Given the description of an element on the screen output the (x, y) to click on. 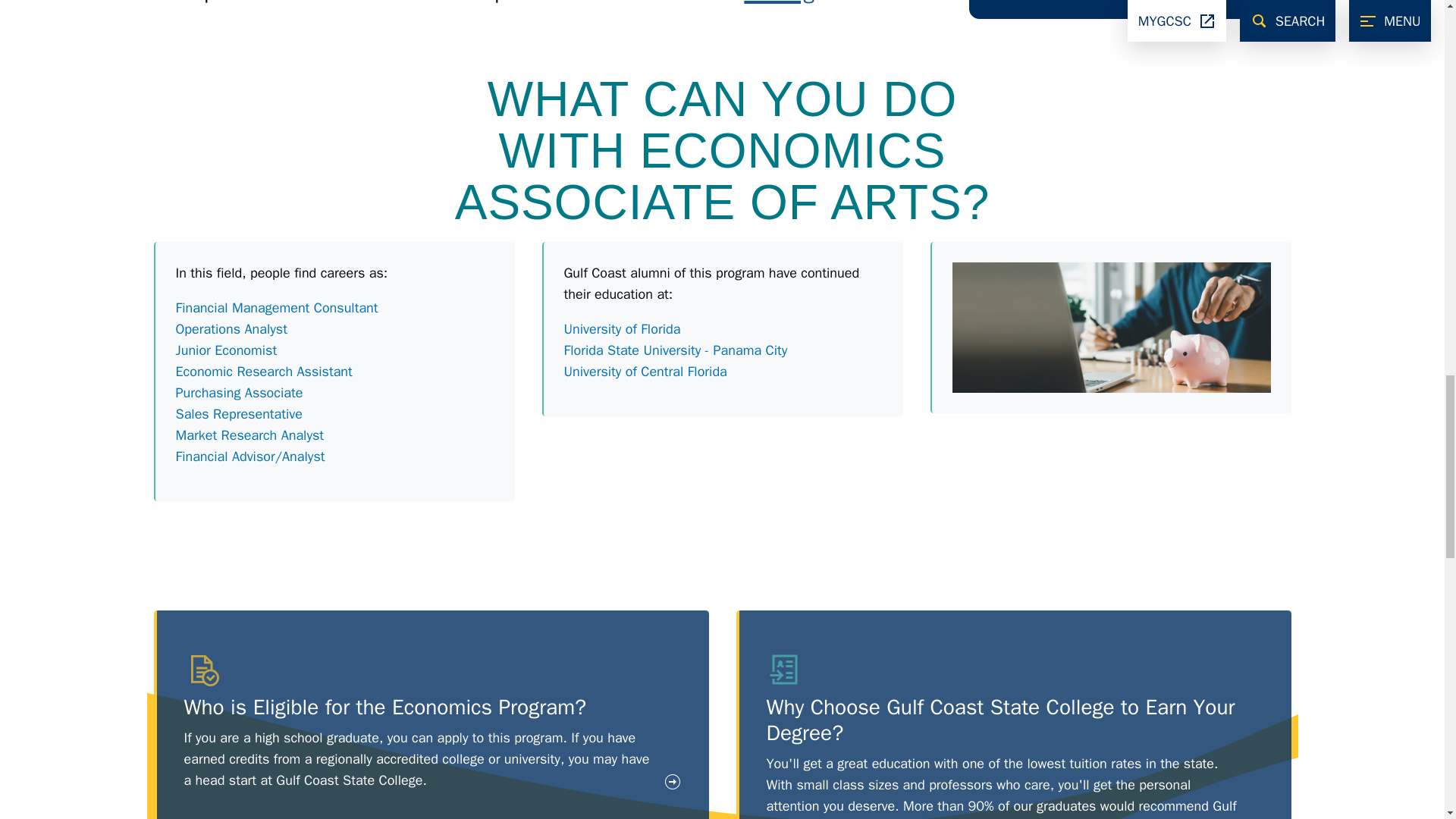
Catalog (778, 2)
